Given the description of an element on the screen output the (x, y) to click on. 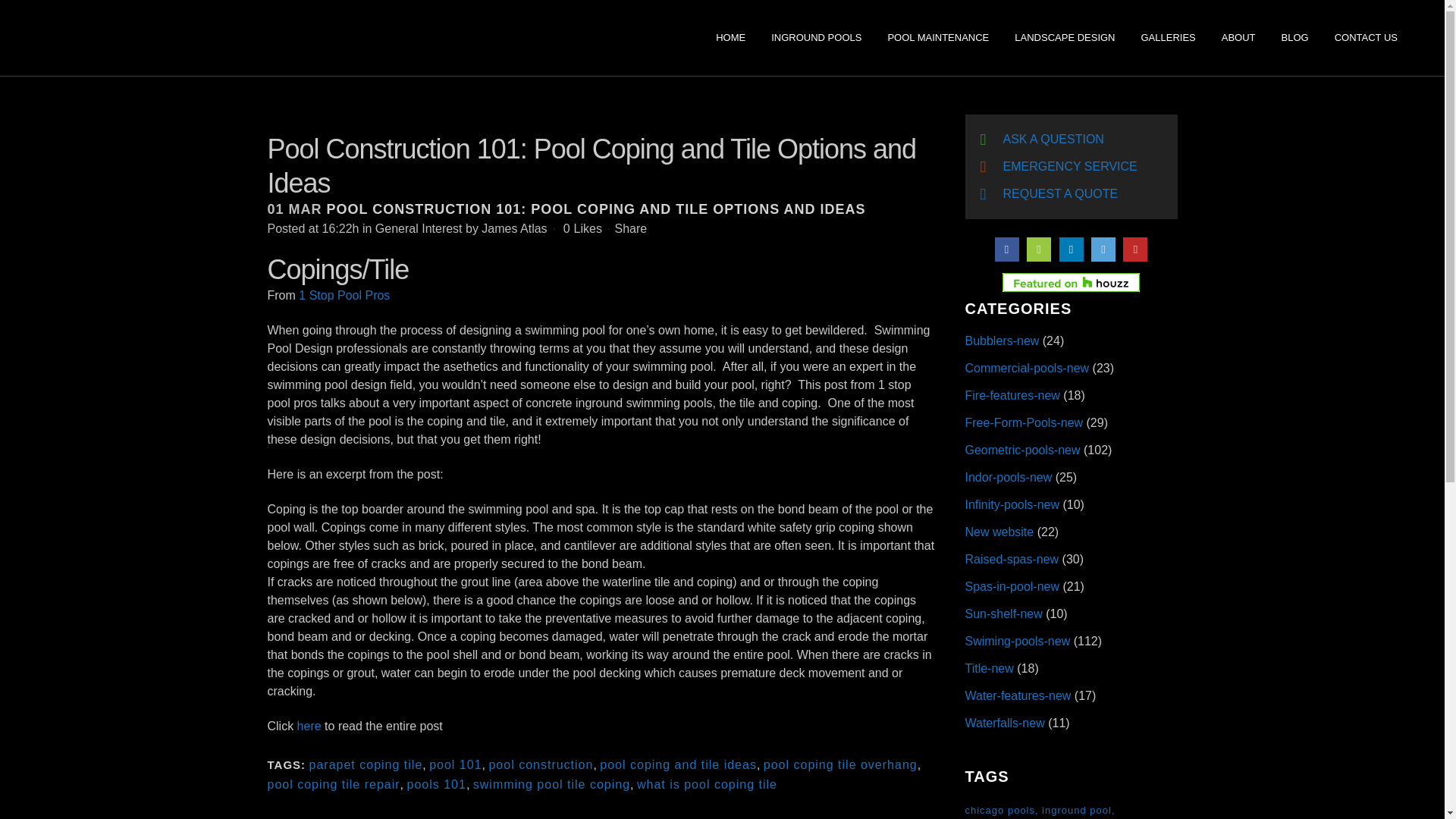
POOL MAINTENANCE (938, 38)
Like this (582, 228)
INGROUND POOLS (816, 38)
GALLERIES (1168, 38)
LANDSCAPE DESIGN (1063, 38)
